Given the description of an element on the screen output the (x, y) to click on. 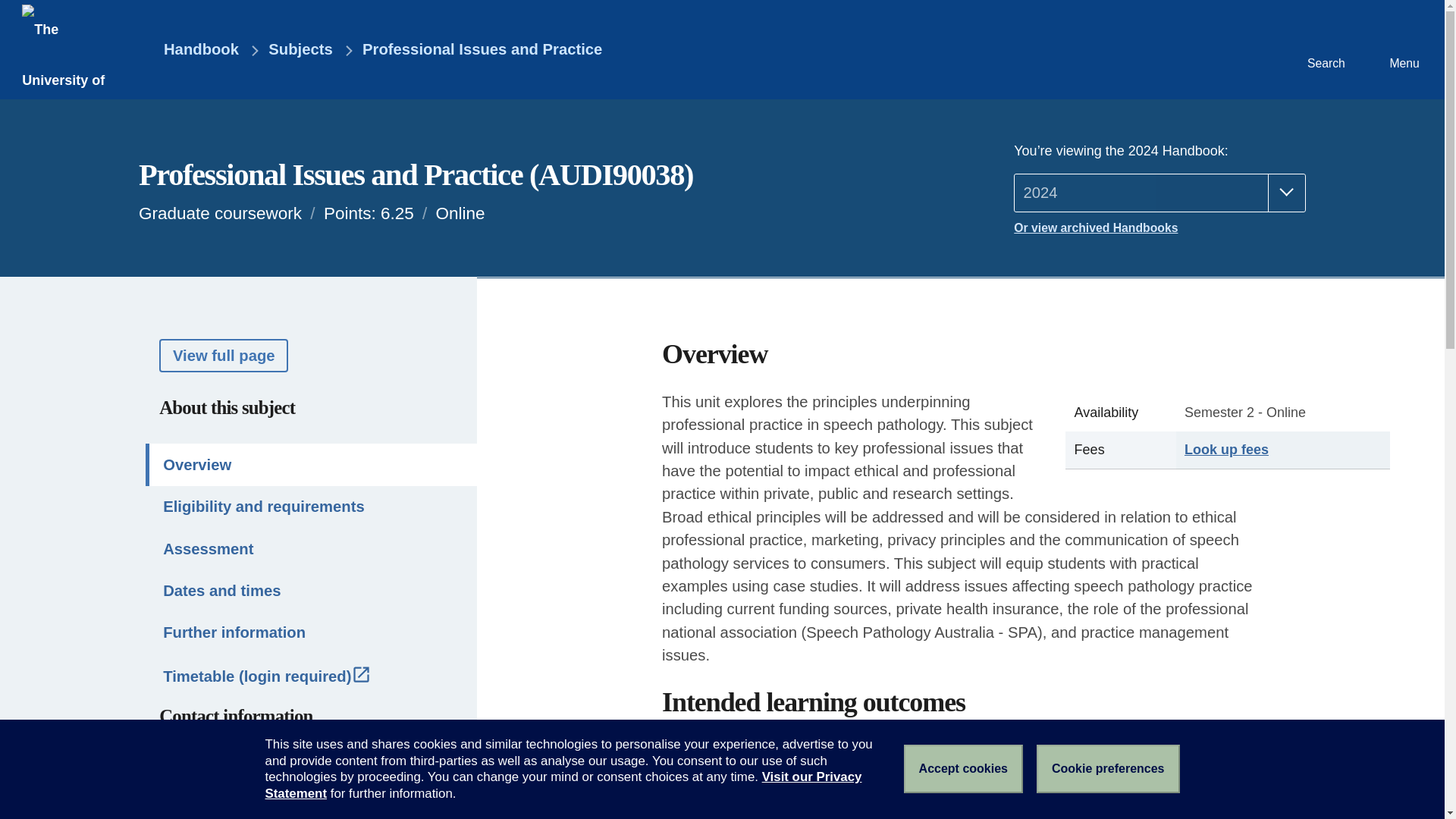
Handbook (189, 49)
Further information (311, 632)
Professional Issues and Practice (482, 49)
Overview (311, 464)
Search (1324, 49)
Or view archived Handbooks (1159, 228)
Search (1324, 49)
Eligibility and requirements (311, 506)
View full page (223, 355)
Look up fees (1226, 449)
